Given the description of an element on the screen output the (x, y) to click on. 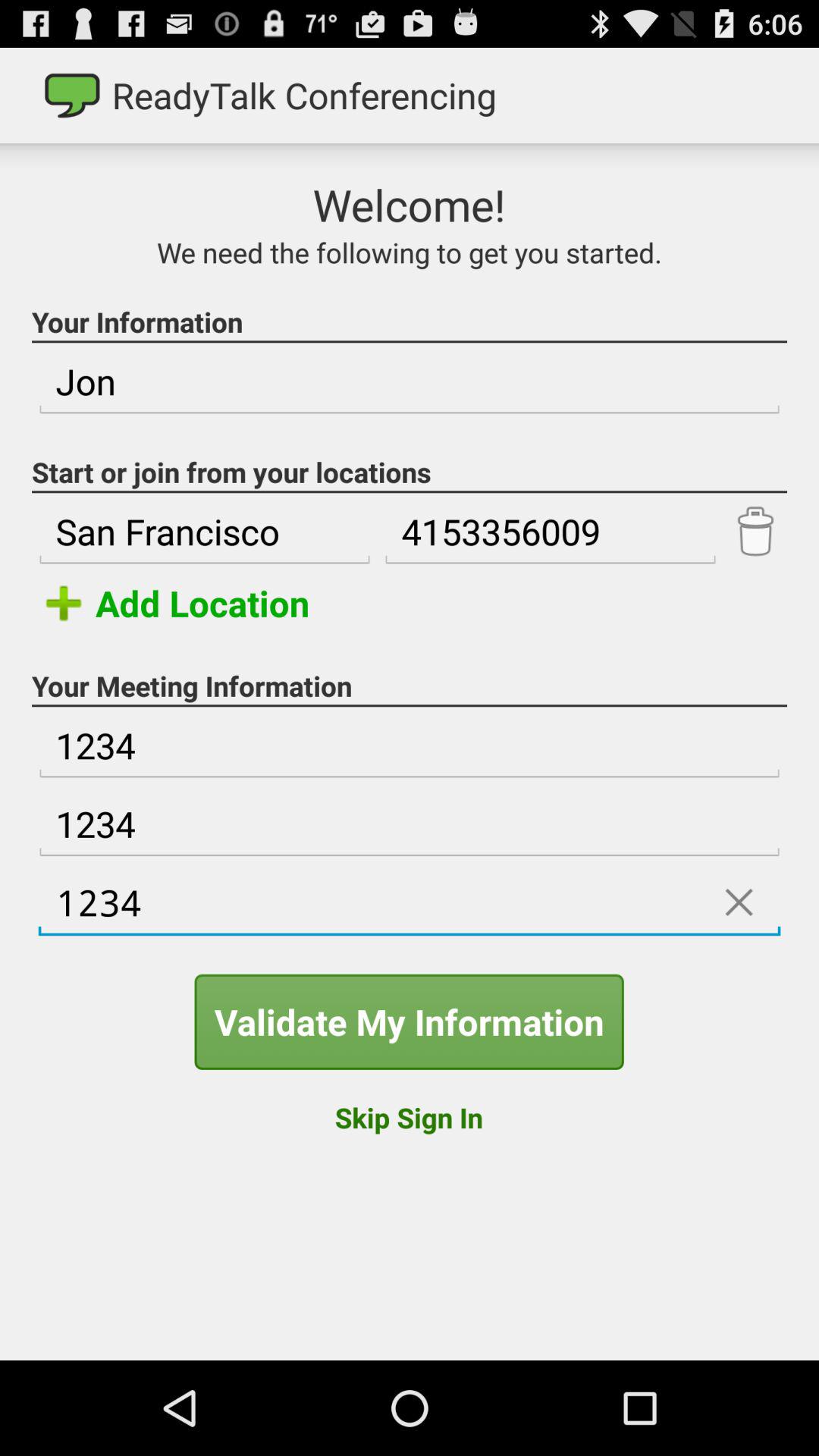
click san francisco item (204, 532)
